Given the description of an element on the screen output the (x, y) to click on. 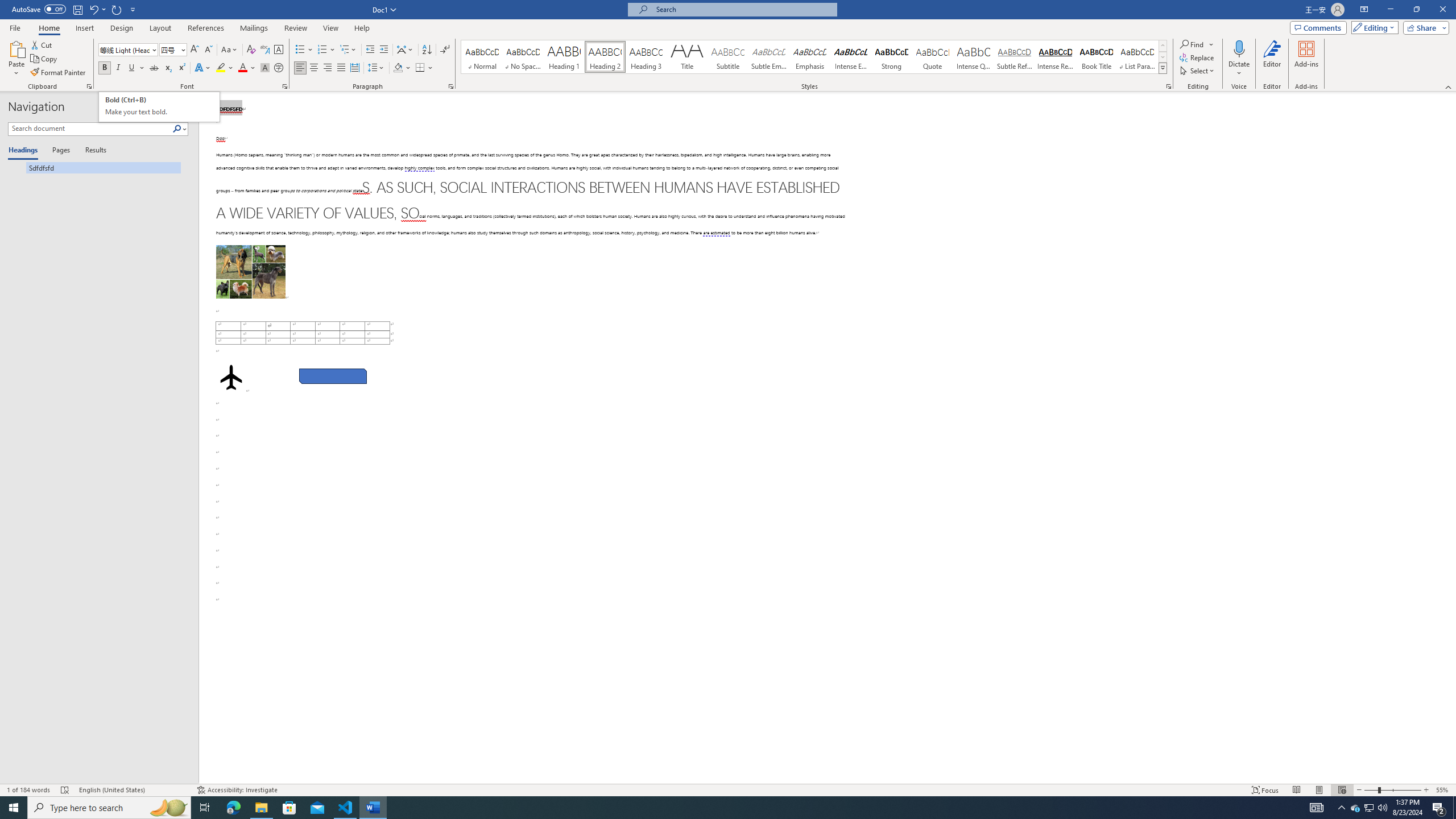
Emphasis (809, 56)
Font Size (172, 49)
Distributed (354, 67)
Sdfdfsfd (94, 167)
Replace... (1197, 56)
Customize Quick Access Toolbar (133, 9)
Pages (59, 150)
Ribbon Display Options (1364, 9)
Intense Quote (973, 56)
Text Highlight Color Yellow (220, 67)
Insert (83, 28)
Font Size (169, 49)
Strong (891, 56)
